Given the description of an element on the screen output the (x, y) to click on. 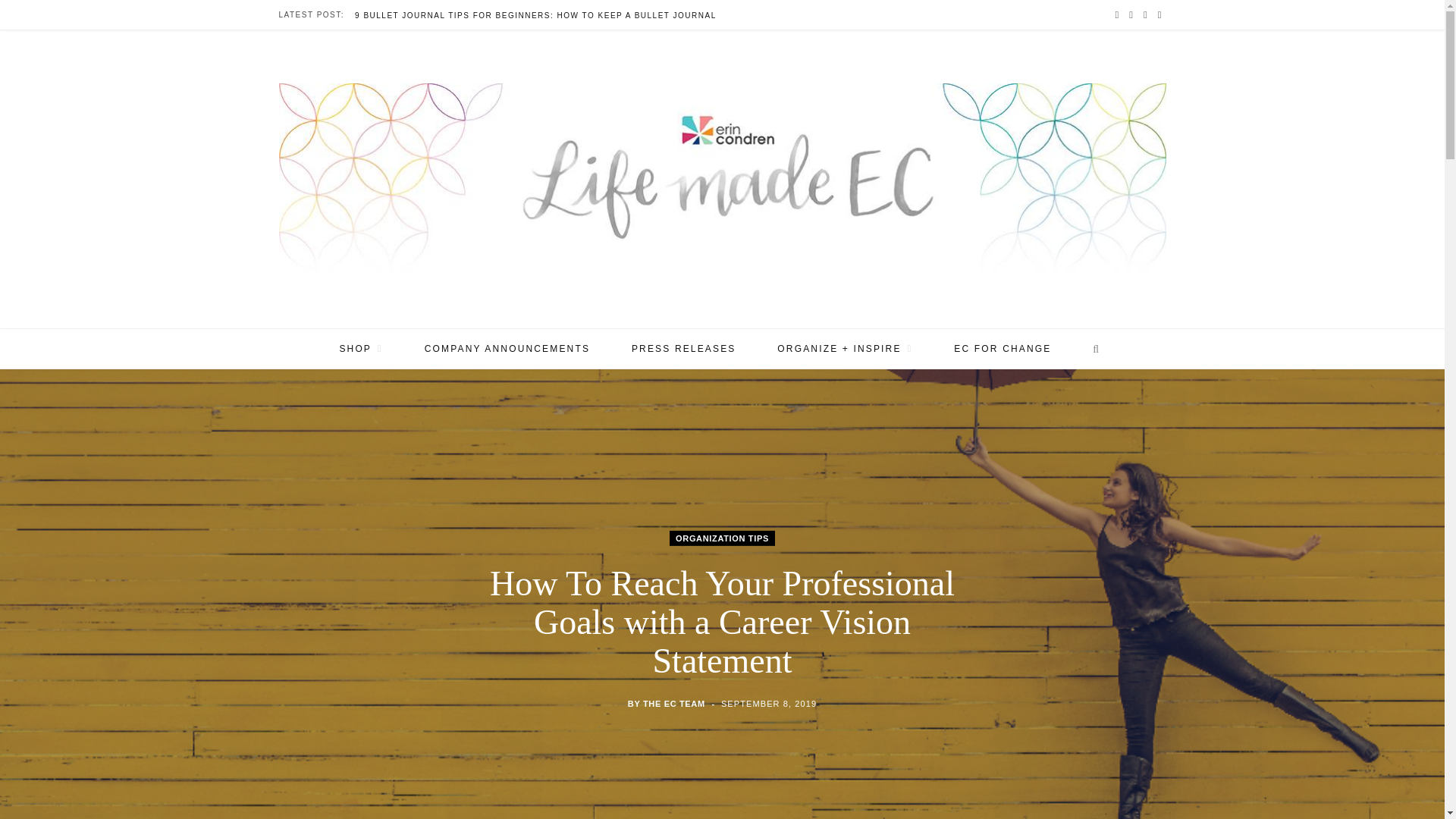
EC FOR CHANGE (1002, 348)
PRESS RELEASES (683, 348)
SHOP (360, 348)
THE EC TEAM (673, 703)
ORGANIZATION TIPS (721, 538)
Posts by The EC Team (673, 703)
COMPANY ANNOUNCEMENTS (507, 348)
